Given the description of an element on the screen output the (x, y) to click on. 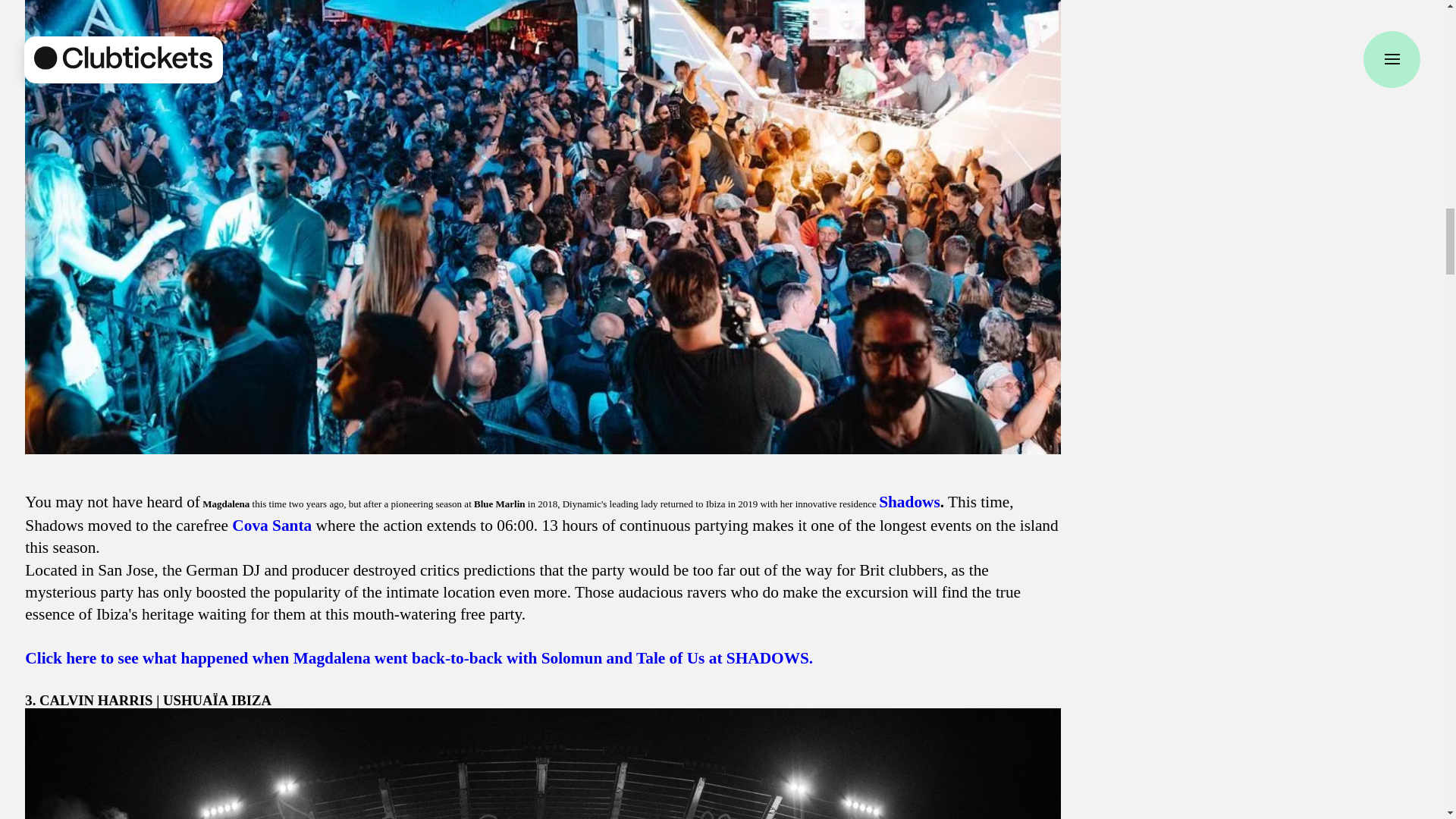
Cova Santa (271, 525)
Shadows (909, 502)
